Given the description of an element on the screen output the (x, y) to click on. 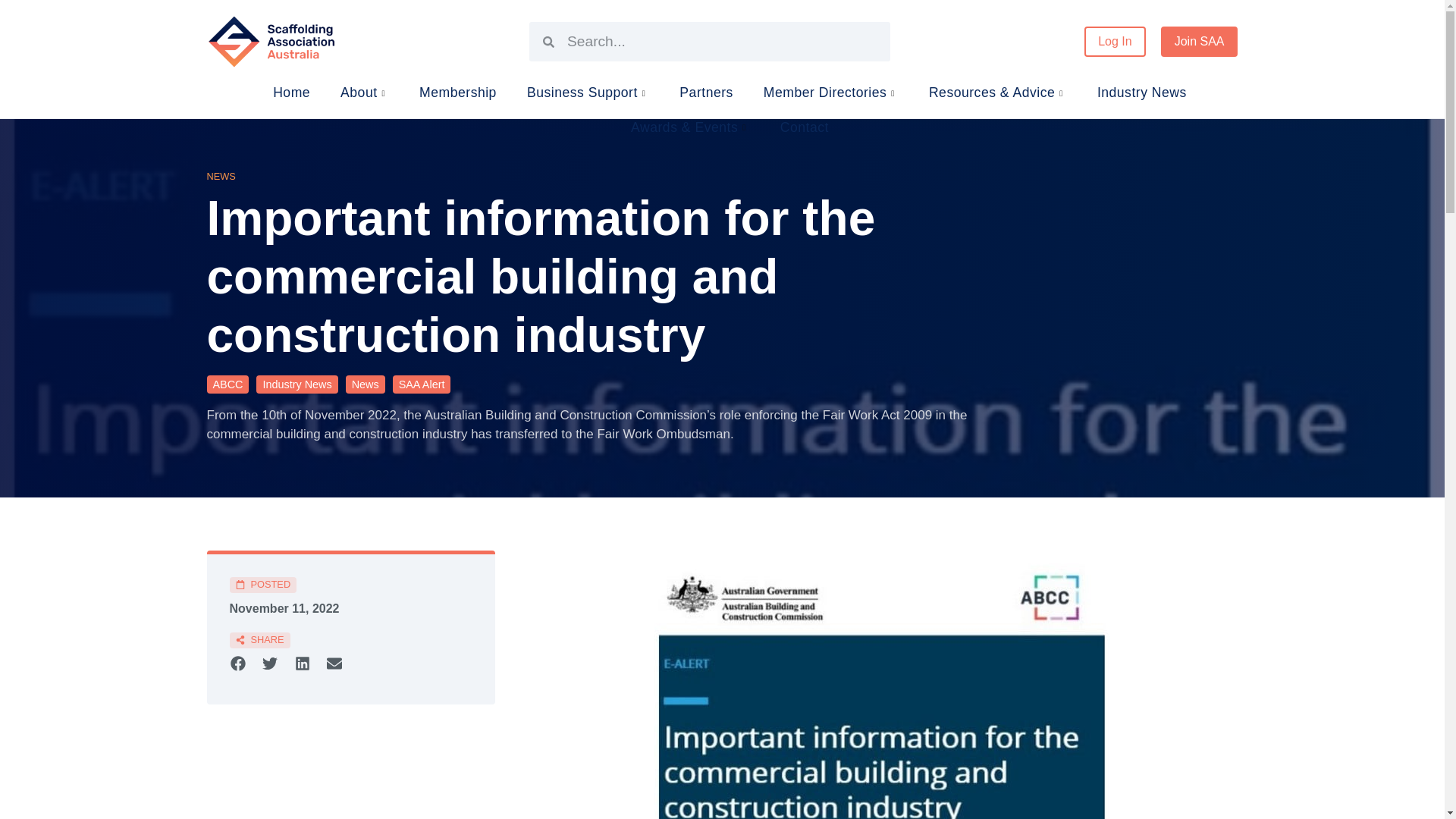
Partners (706, 93)
Contact (804, 127)
Industry News (1141, 93)
Home (291, 93)
Membership (457, 93)
Member Directories (830, 93)
Join SAA (1199, 41)
Business Support (588, 93)
Log In (1114, 41)
About (364, 93)
